Given the description of an element on the screen output the (x, y) to click on. 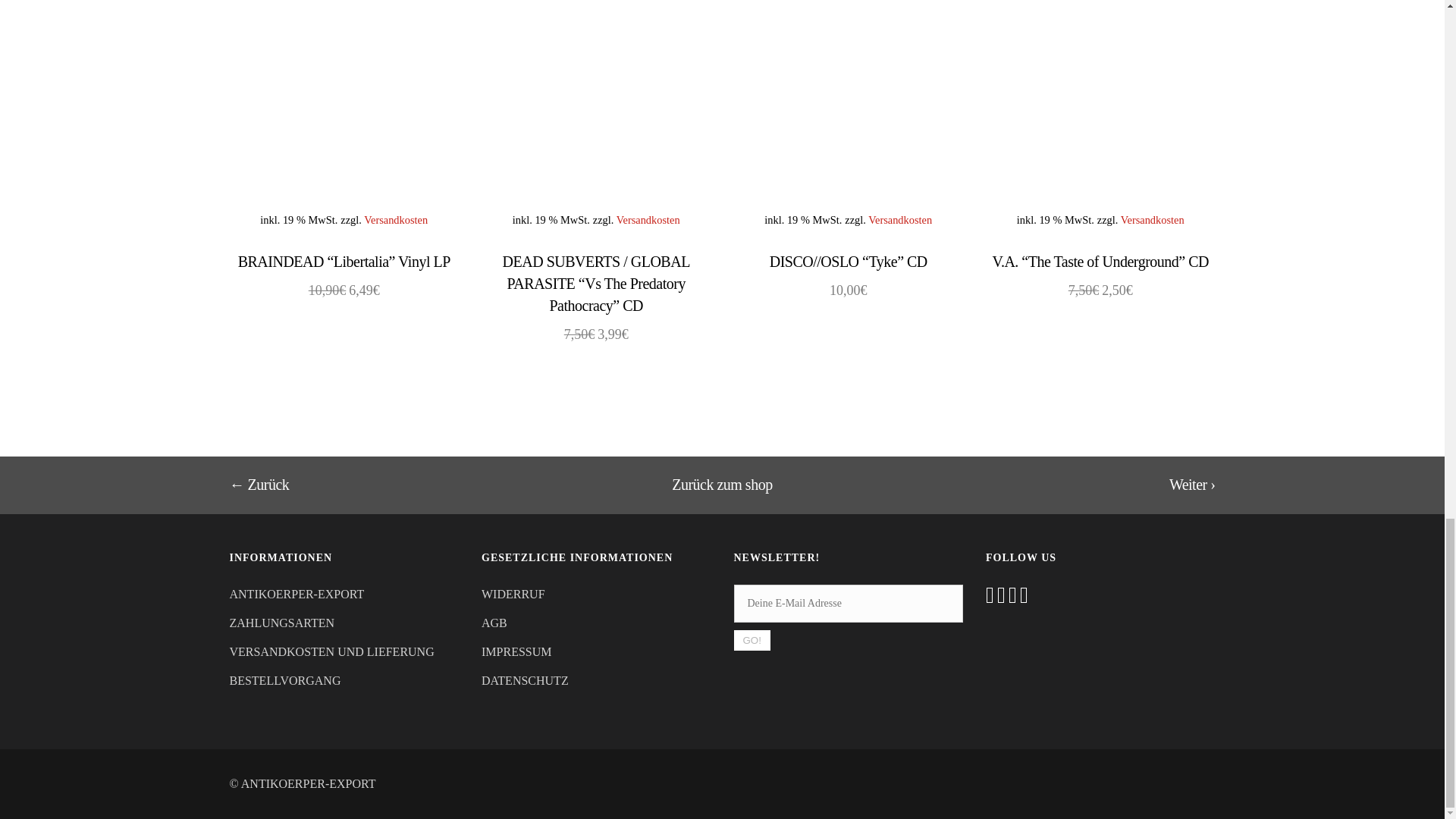
GO! (751, 639)
SALE (343, 113)
SALE (596, 113)
Versandkosten (647, 219)
Versandkosten (396, 219)
